Given the description of an element on the screen output the (x, y) to click on. 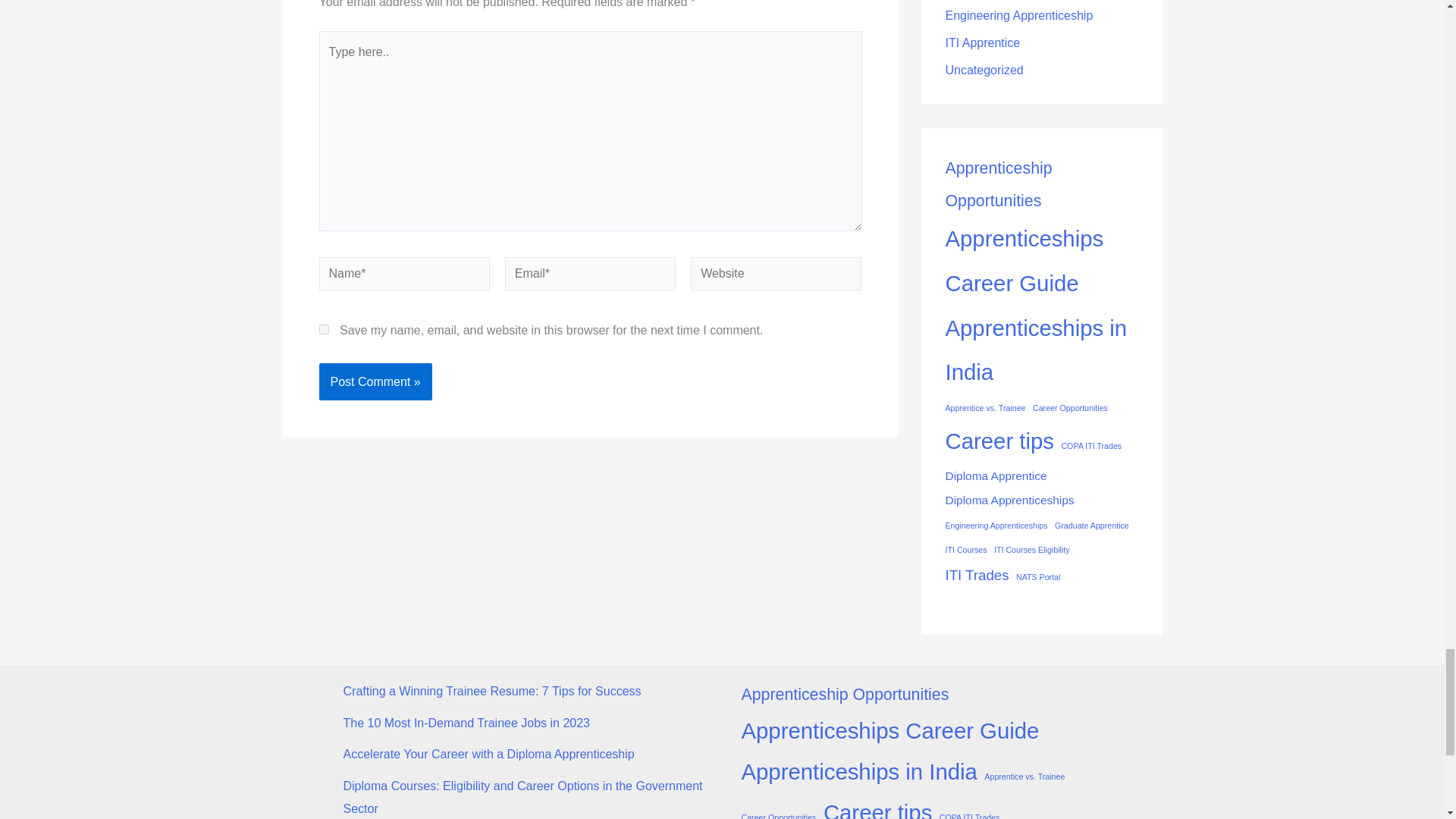
yes (323, 329)
